Given the description of an element on the screen output the (x, y) to click on. 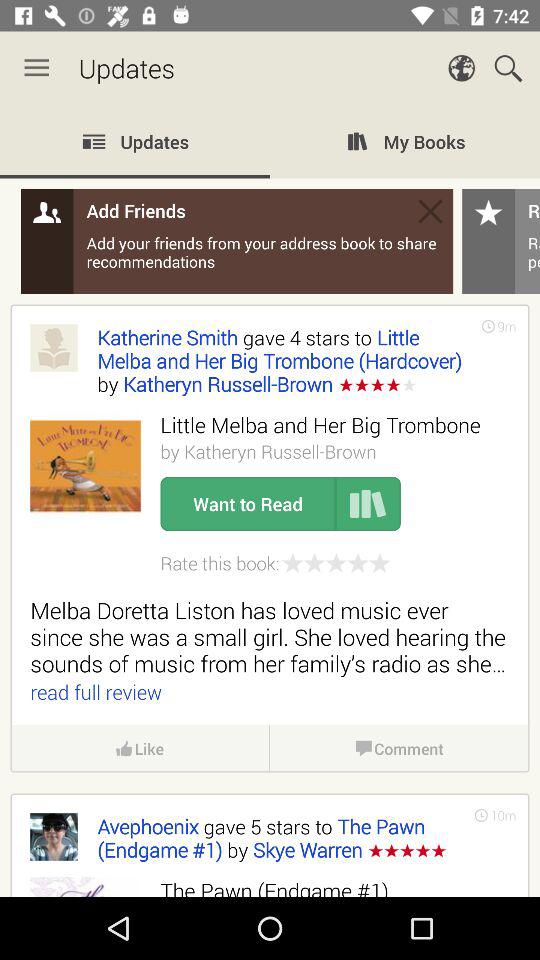
tap item below the rate this book: (269, 636)
